Given the description of an element on the screen output the (x, y) to click on. 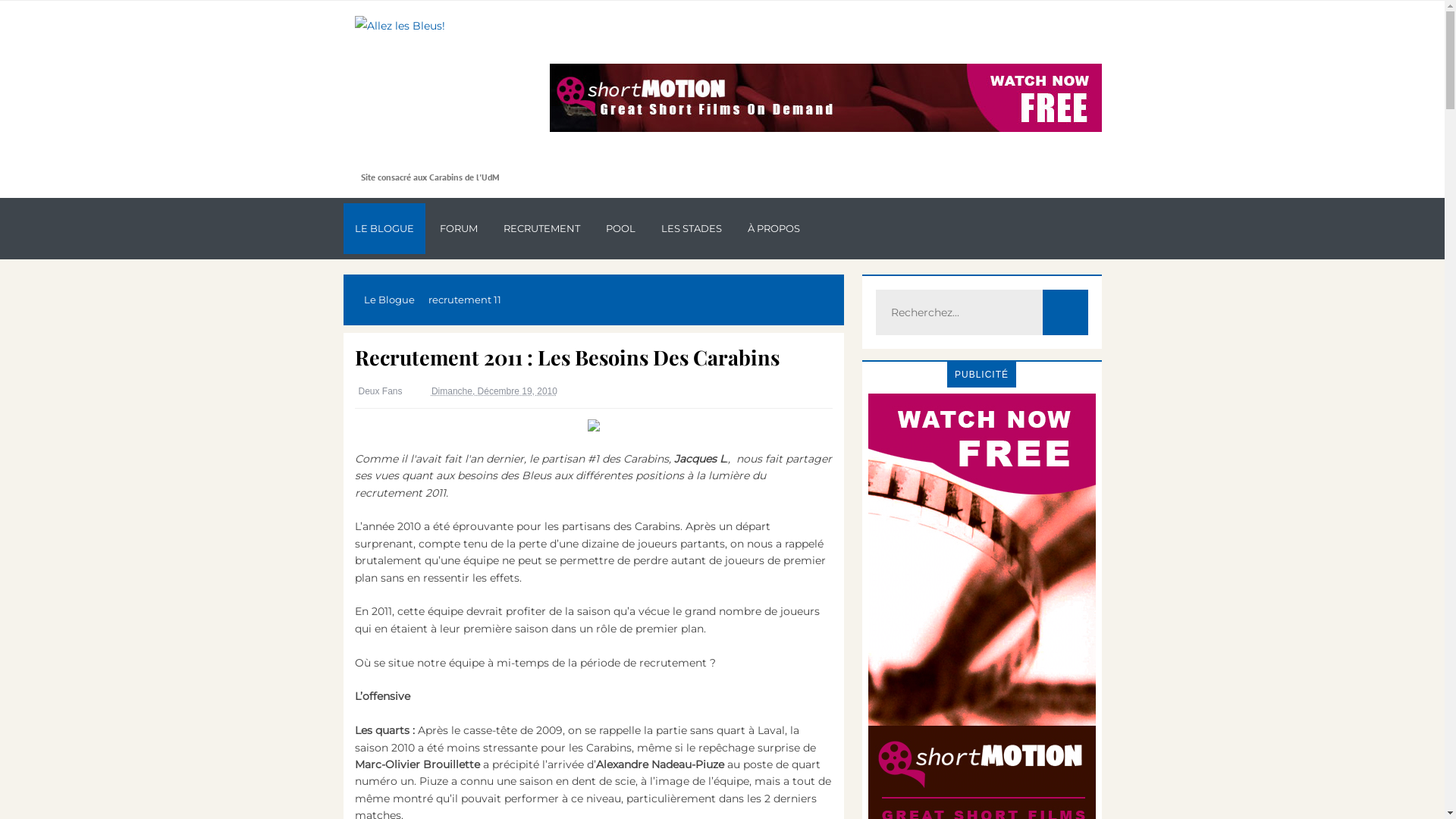
LES STADES Element type: text (690, 228)
POOL Element type: text (620, 228)
LE BLOGUE Element type: text (383, 228)
Deux Fans Element type: text (382, 391)
RECRUTEMENT Element type: text (540, 228)
recrutement 11 Element type: text (464, 299)
FORUM Element type: text (457, 228)
Le Blogue Element type: text (388, 299)
